Given the description of an element on the screen output the (x, y) to click on. 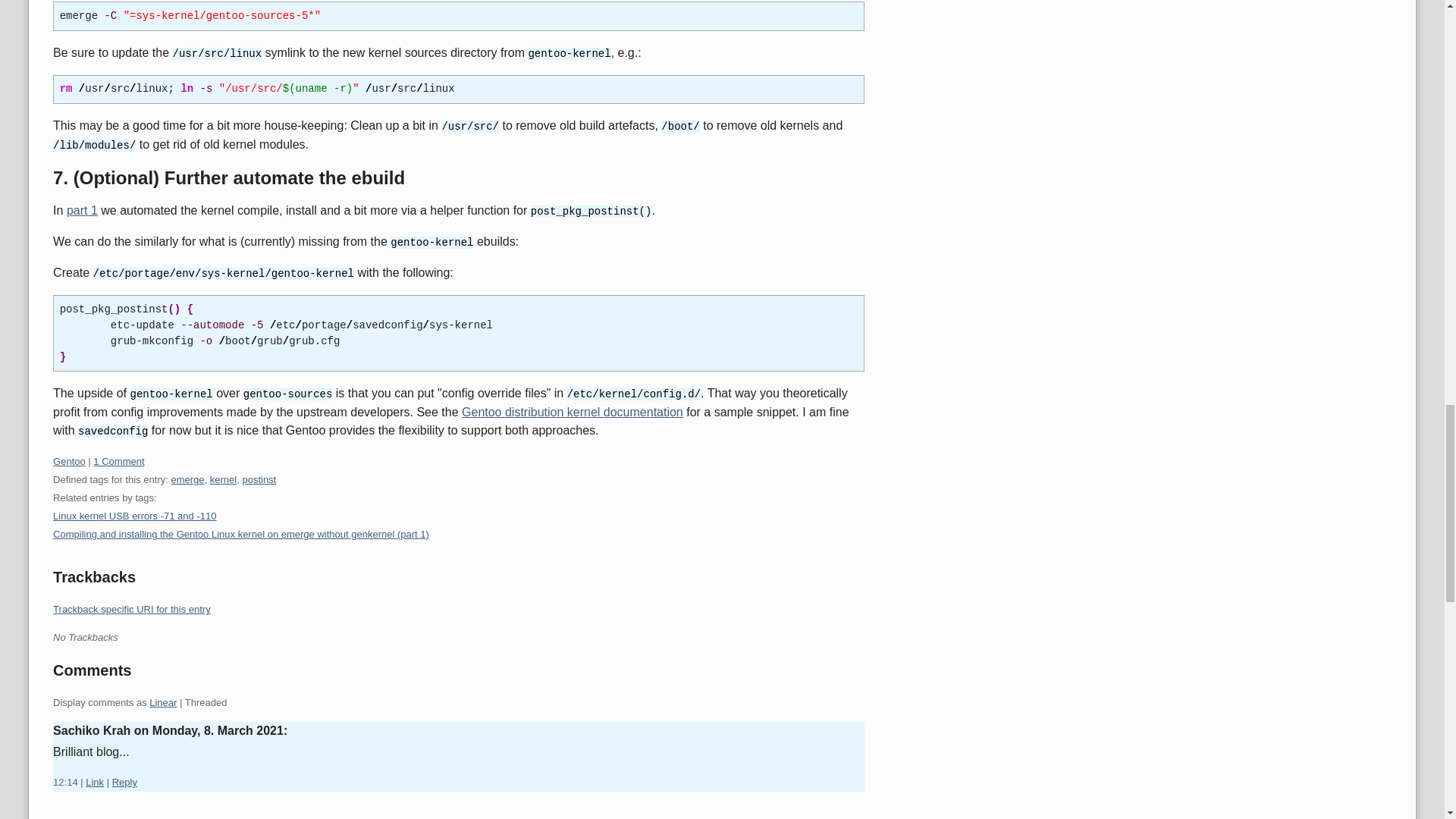
kernel (222, 479)
postinst (258, 479)
Linear (162, 702)
emerge (186, 479)
Link (94, 781)
Linux kernel USB errors -71 and -110 (133, 515)
Gentoo (68, 460)
emerge (186, 479)
postinst (258, 479)
1 Comment, 0 Trackbacks (118, 460)
